Given the description of an element on the screen output the (x, y) to click on. 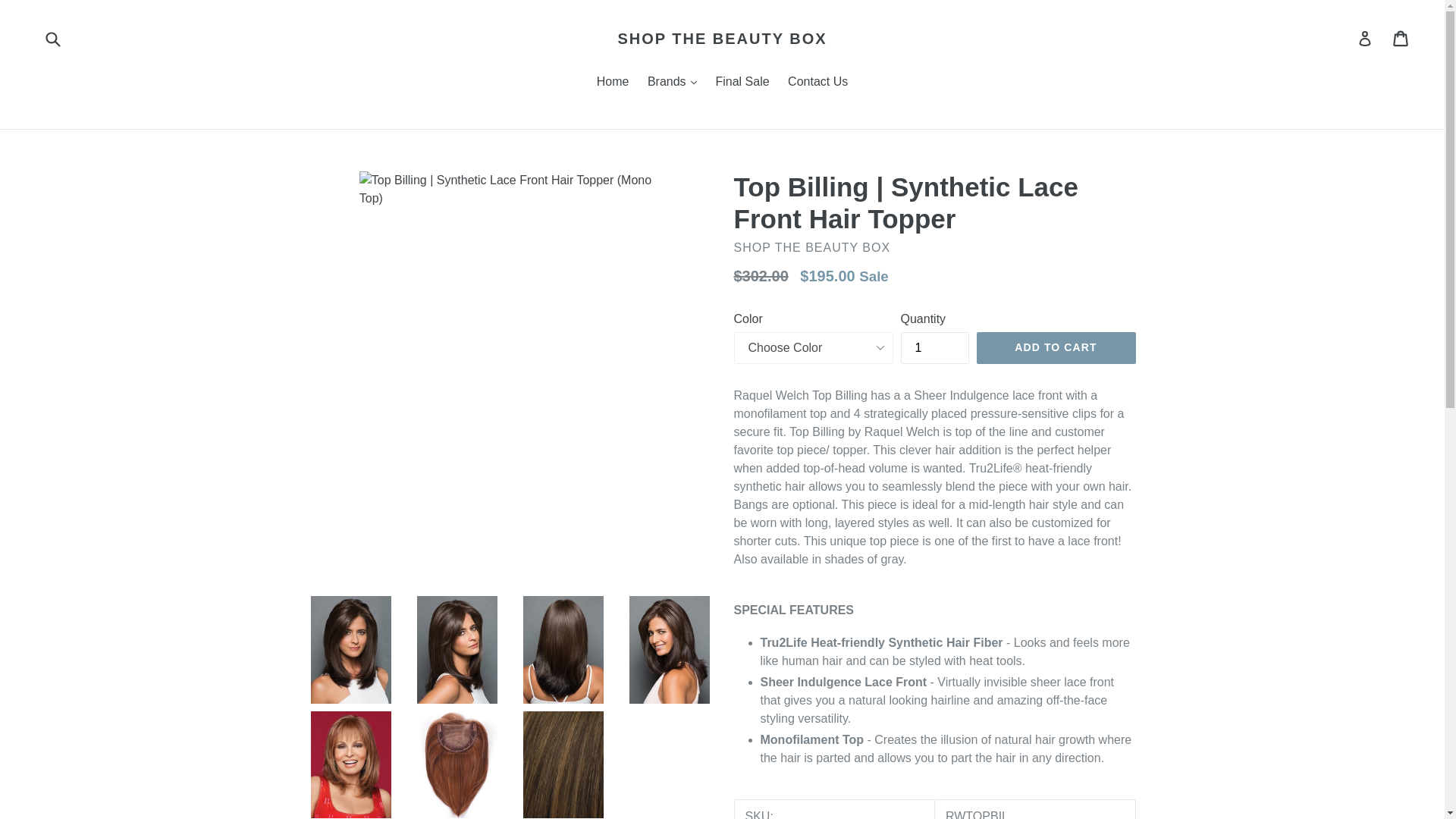
1 (935, 347)
Home (613, 82)
SHOP THE BEAUTY BOX (722, 38)
